Given the description of an element on the screen output the (x, y) to click on. 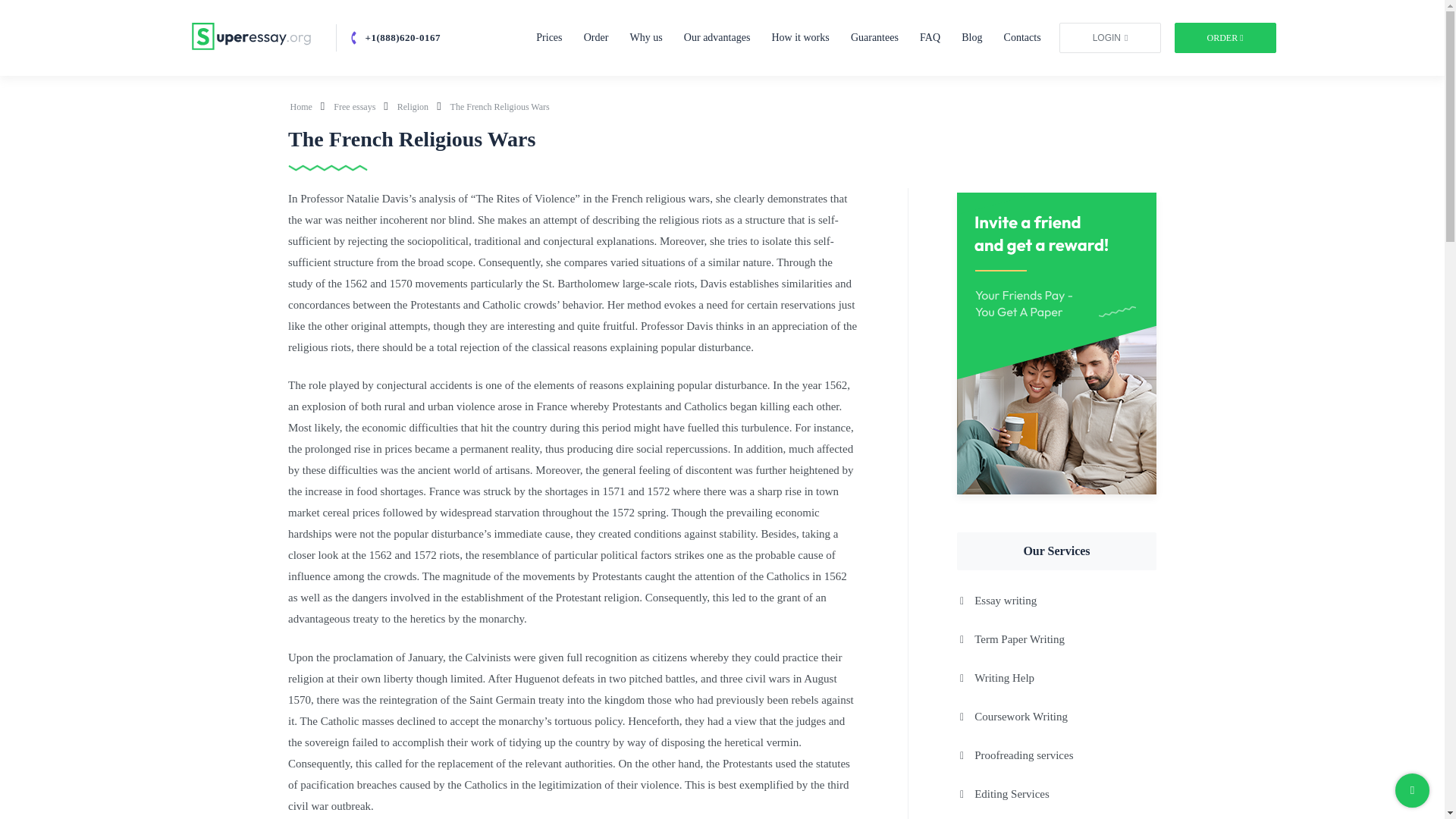
Prices (548, 37)
FAQ (930, 37)
Order (595, 37)
Religion (413, 106)
ORDER (1224, 37)
Our advantages (716, 37)
Free essays (355, 106)
How it works (800, 37)
Home (301, 106)
Guarantees (874, 37)
